Given the description of an element on the screen output the (x, y) to click on. 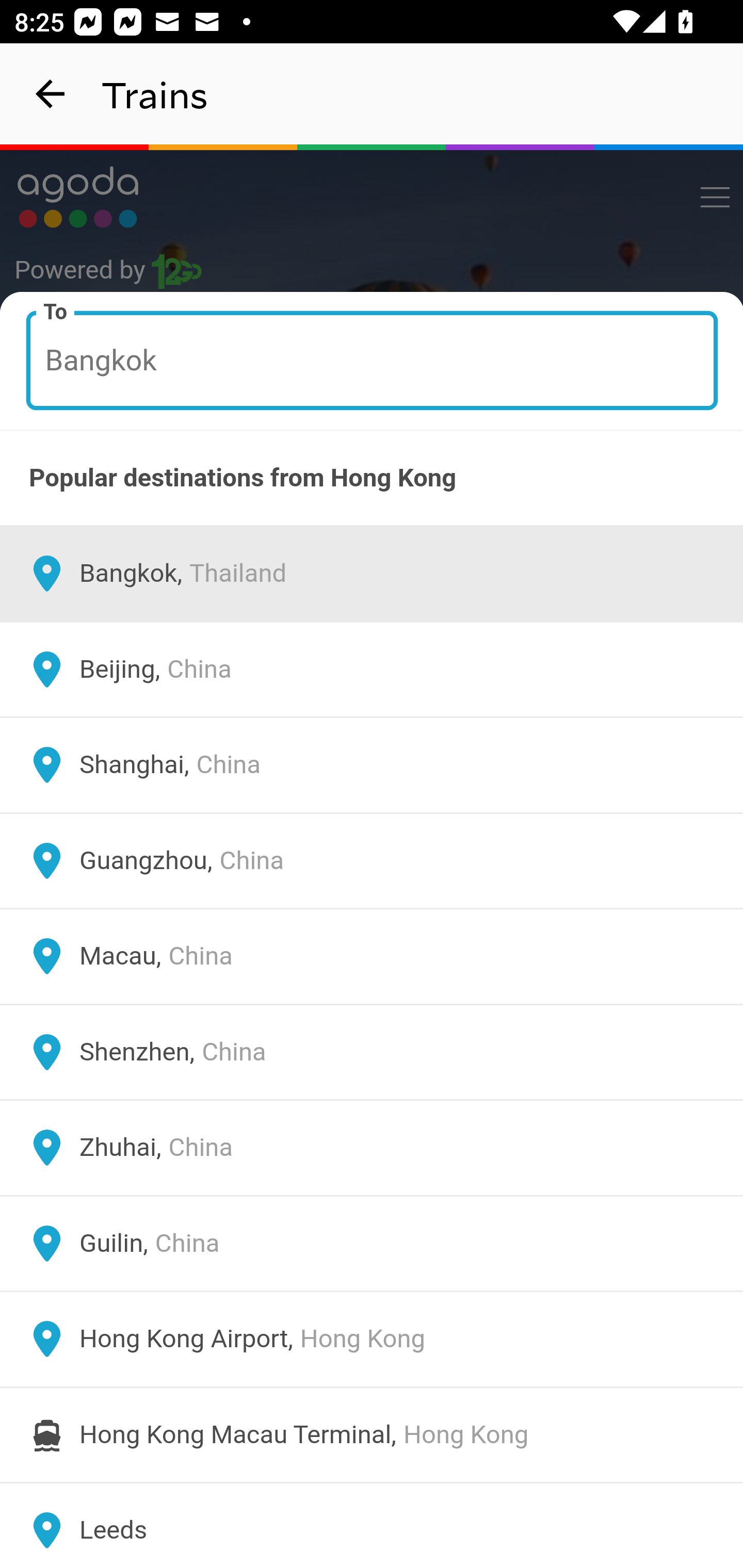
navigation_button (50, 93)
Popular destinations from Hong Kong (371, 477)
Bangkok,Thailand (371, 573)
Beijing,China (371, 669)
Shanghai,China (371, 764)
Guangzhou,China (371, 860)
Macau,China (371, 956)
Shenzhen,China (371, 1051)
Zhuhai,China (371, 1147)
Guilin,China (371, 1243)
Hong Kong Airport,Hong Kong (371, 1339)
Hong Kong Macau Terminal,Hong Kong (371, 1434)
Leeds (371, 1524)
